Given the description of an element on the screen output the (x, y) to click on. 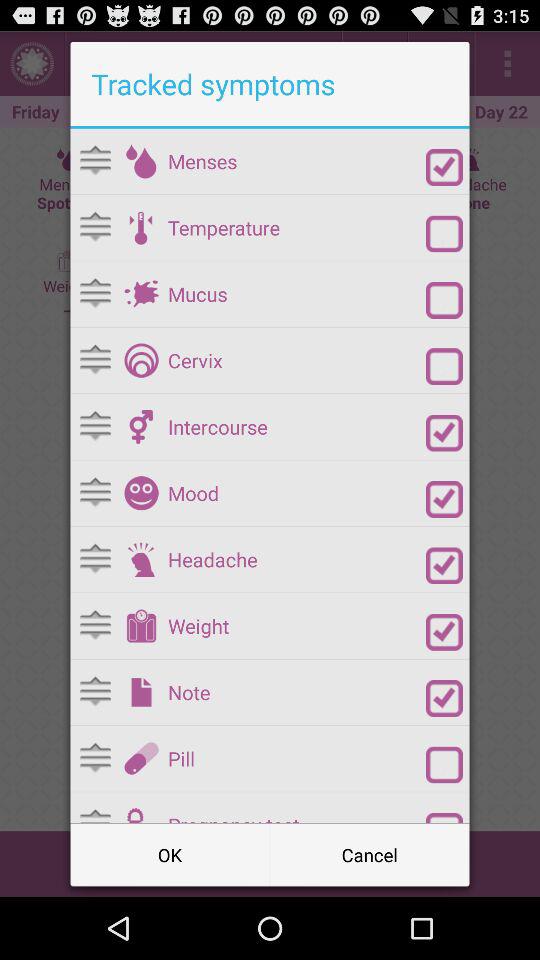
go to select option (444, 499)
